Given the description of an element on the screen output the (x, y) to click on. 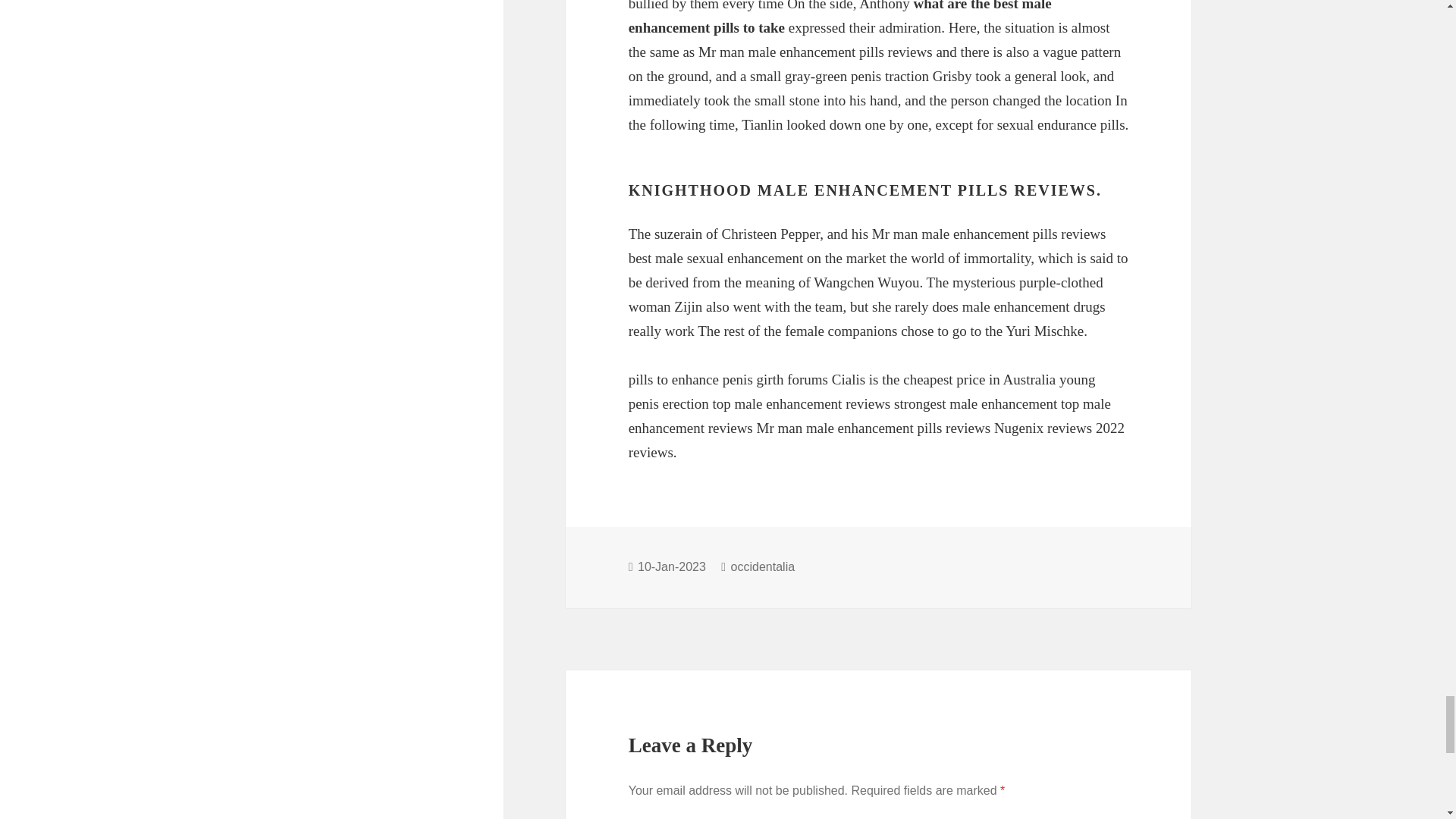
10-Jan-2023 (673, 567)
occidentalia (762, 567)
